Given the description of an element on the screen output the (x, y) to click on. 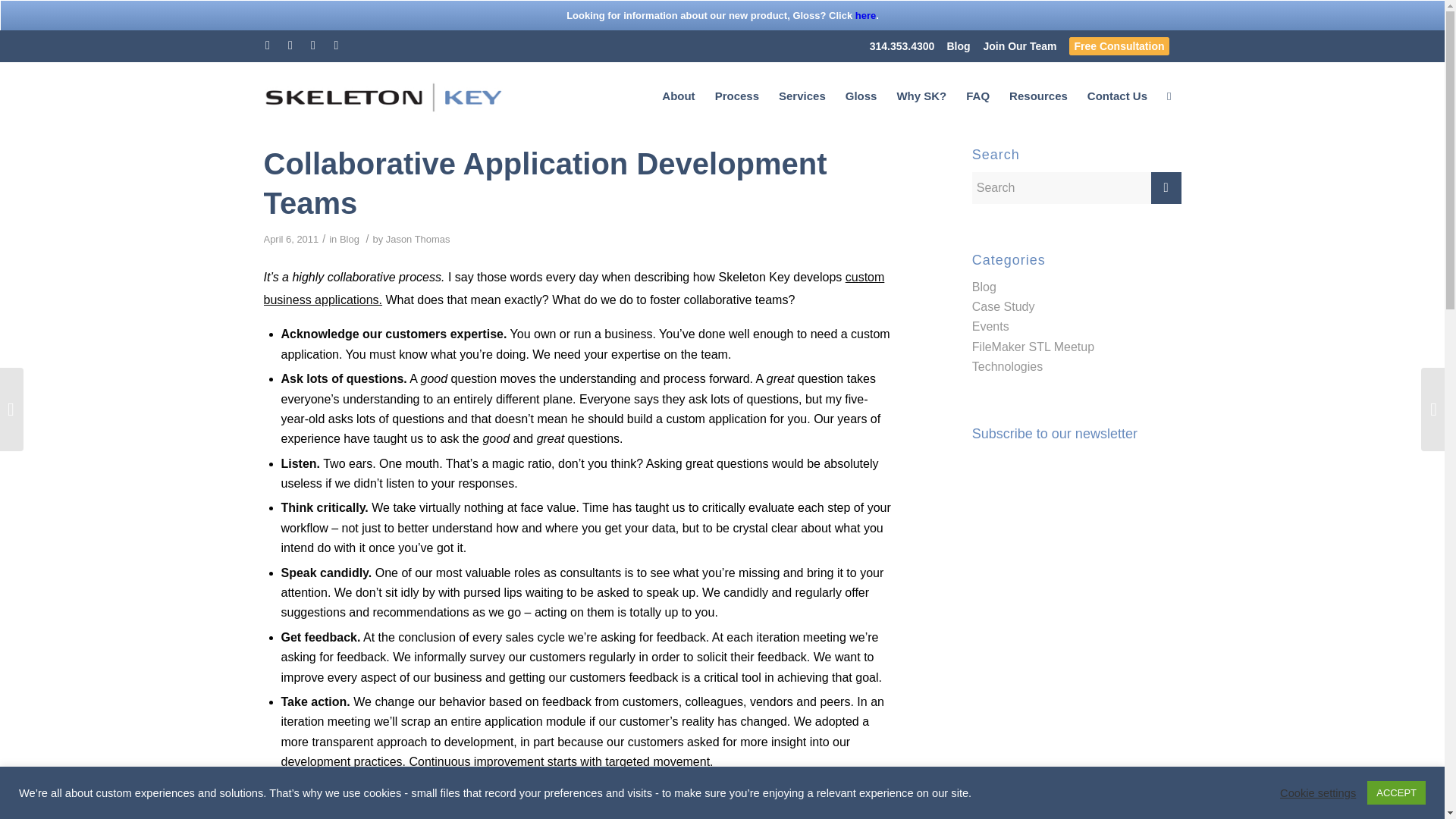
Process (736, 96)
Contact Us (1117, 96)
Blog (983, 286)
Twitter (267, 45)
custom business applications. (574, 288)
Why SK? (921, 96)
Blog (349, 238)
Case Study (1003, 306)
Facebook (290, 45)
Collaborative Application Development Teams (545, 183)
Services (801, 96)
314.353.4300 (901, 46)
here (866, 15)
Permanent Link: Collaborative Application Development Teams (545, 183)
Resources (1037, 96)
